Given the description of an element on the screen output the (x, y) to click on. 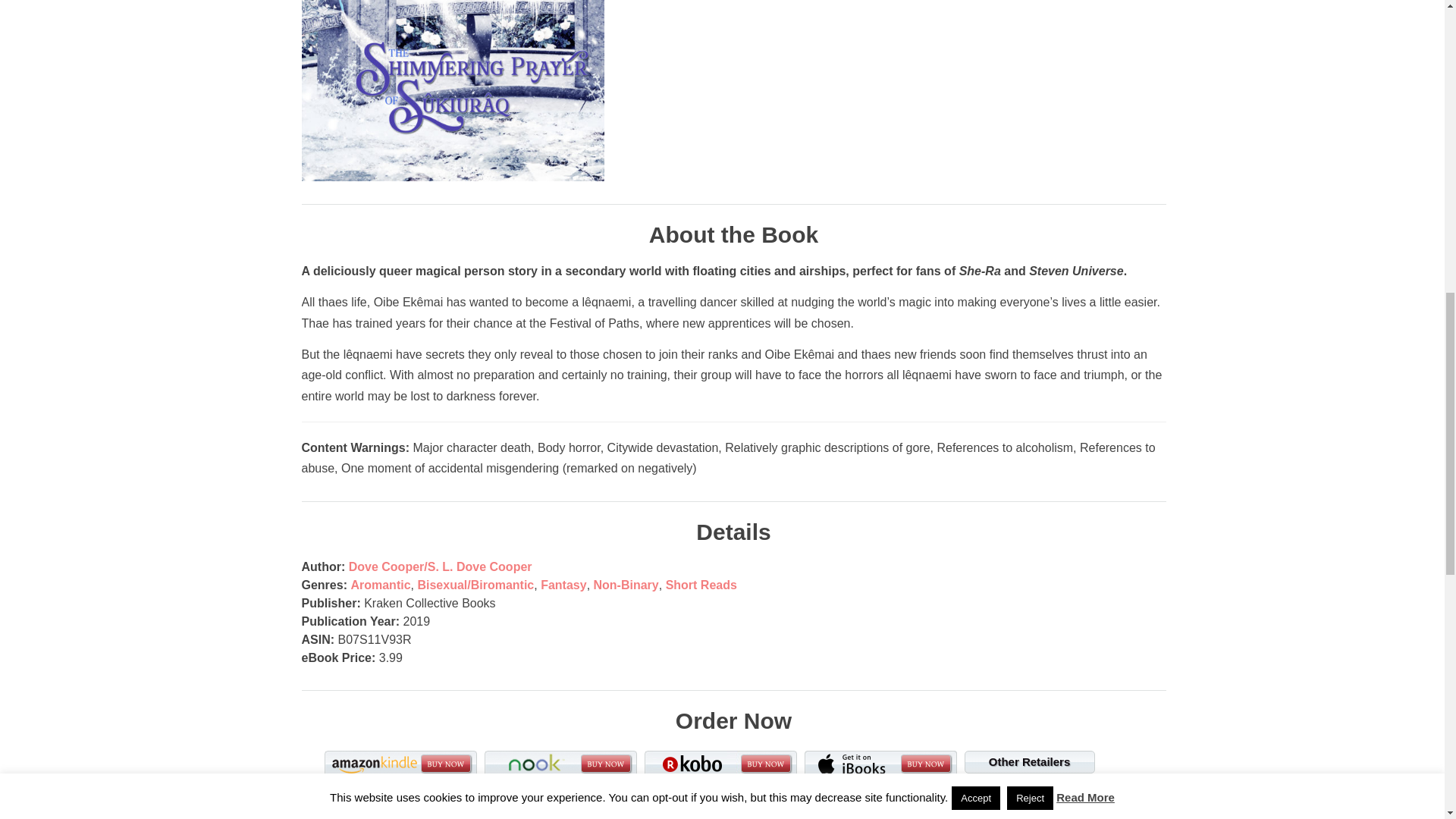
Non-Binary (626, 584)
Short Reads (700, 584)
Fantasy (563, 584)
Aromantic (380, 584)
Other Retailers (1028, 762)
